Given the description of an element on the screen output the (x, y) to click on. 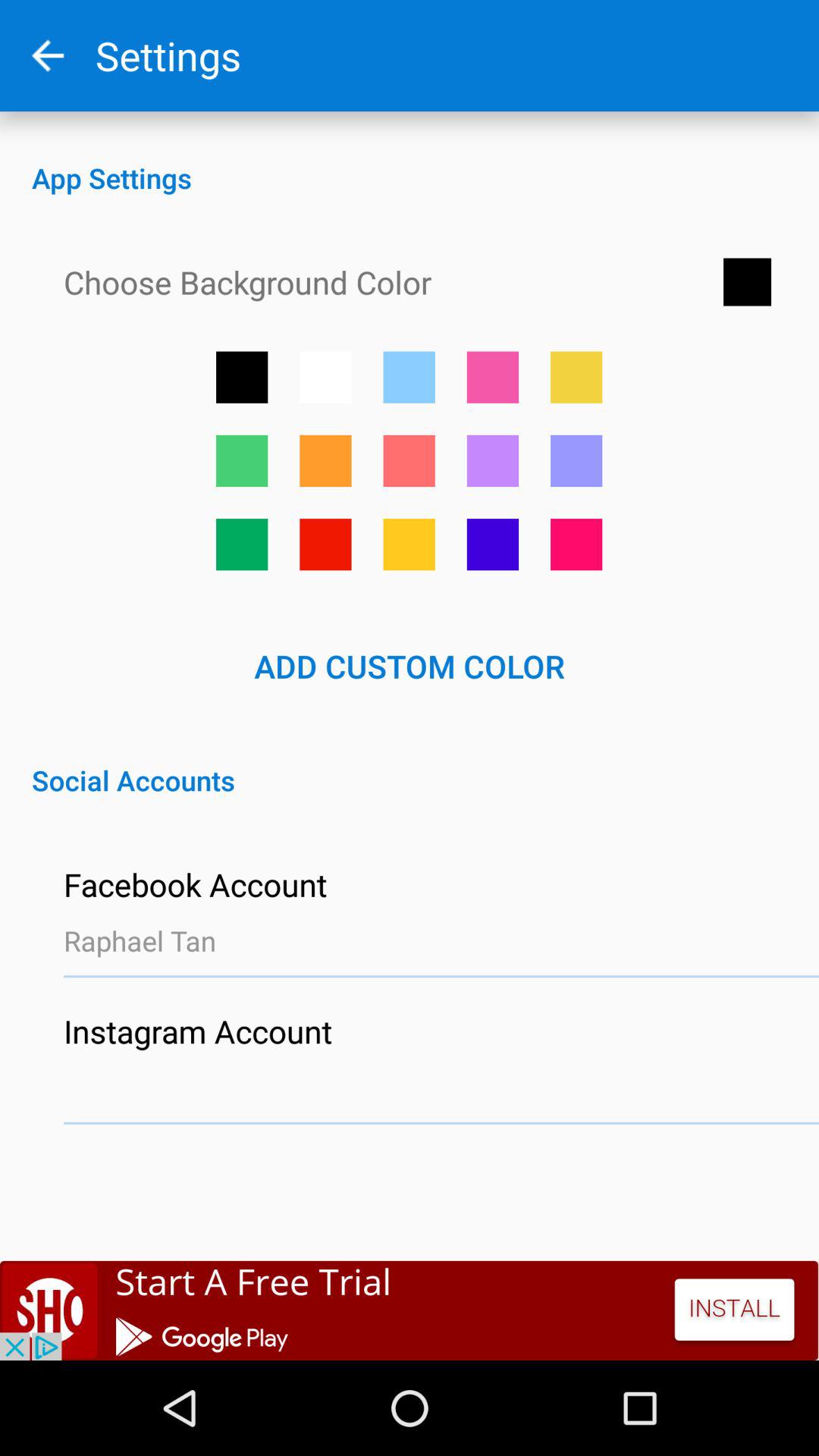
click button (325, 460)
